Given the description of an element on the screen output the (x, y) to click on. 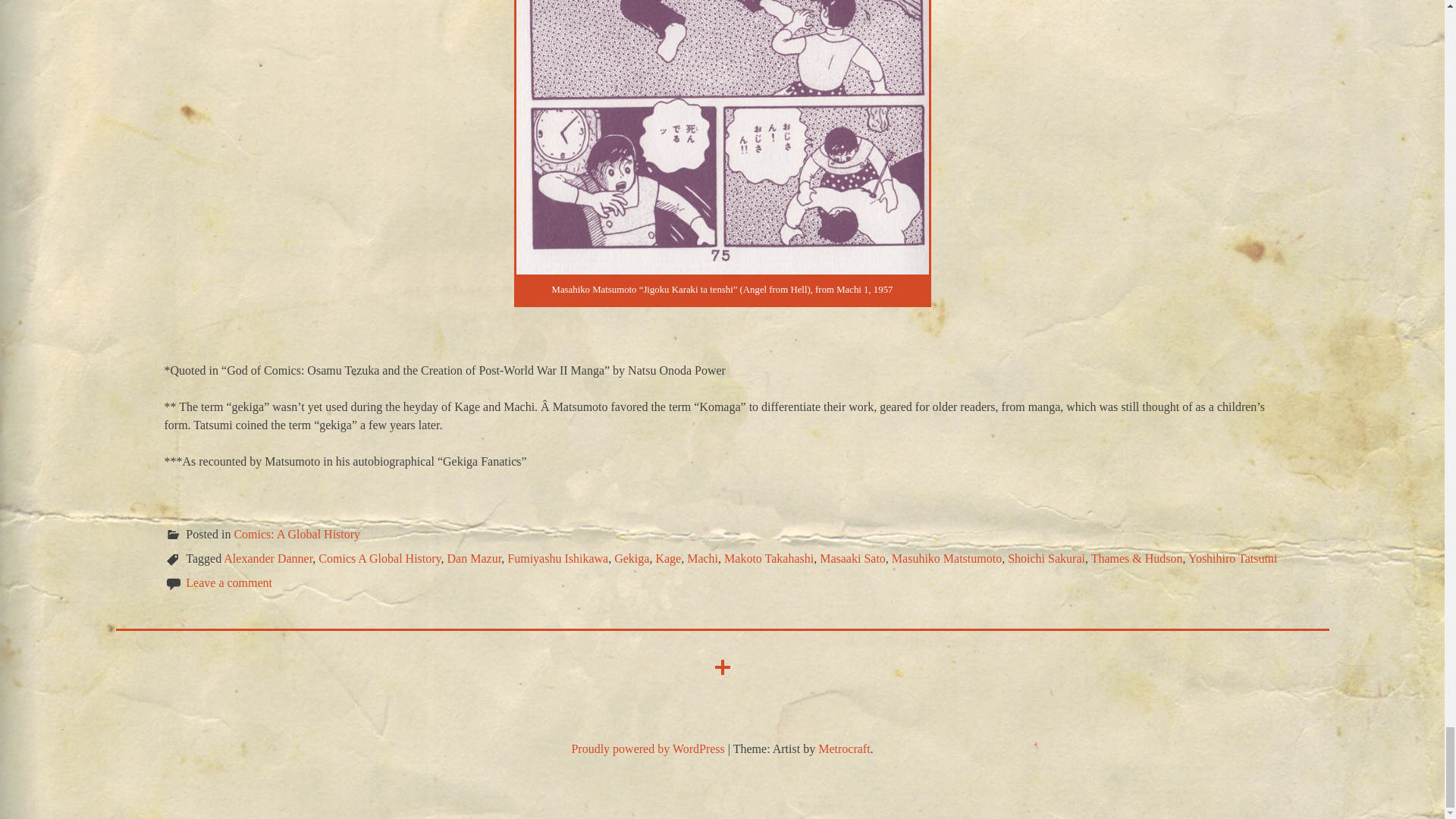
Kage (668, 558)
Leave a comment (229, 582)
Masaaki Sato (852, 558)
Matsumoto - Machi 1- Angel from Hell REDUCED (721, 137)
Comics: A Global History (295, 533)
Shoichi Sakurai (1045, 558)
Machi (702, 558)
Yoshihiro Tatsumi (1232, 558)
Masuhiko Matstumoto (946, 558)
Makoto Takahashi (768, 558)
Fumiyashu Ishikawa (557, 558)
Gekiga (631, 558)
Alexander Danner (268, 558)
Comics A Global History (379, 558)
Dan Mazur (474, 558)
